Given the description of an element on the screen output the (x, y) to click on. 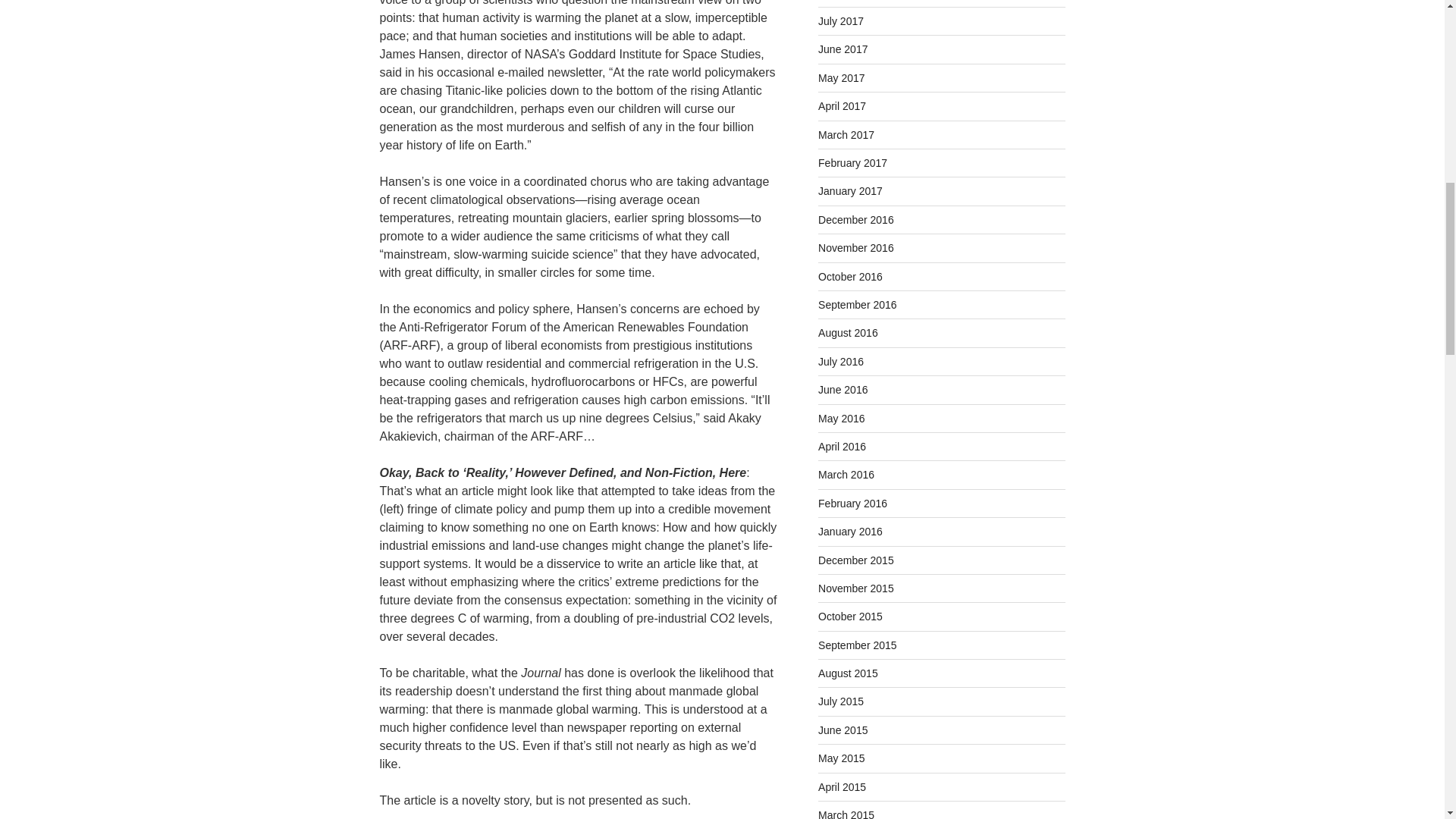
February 2017 (852, 162)
January 2017 (850, 191)
July 2017 (840, 21)
June 2017 (842, 49)
March 2017 (846, 134)
May 2017 (841, 78)
April 2017 (842, 105)
